Given the description of an element on the screen output the (x, y) to click on. 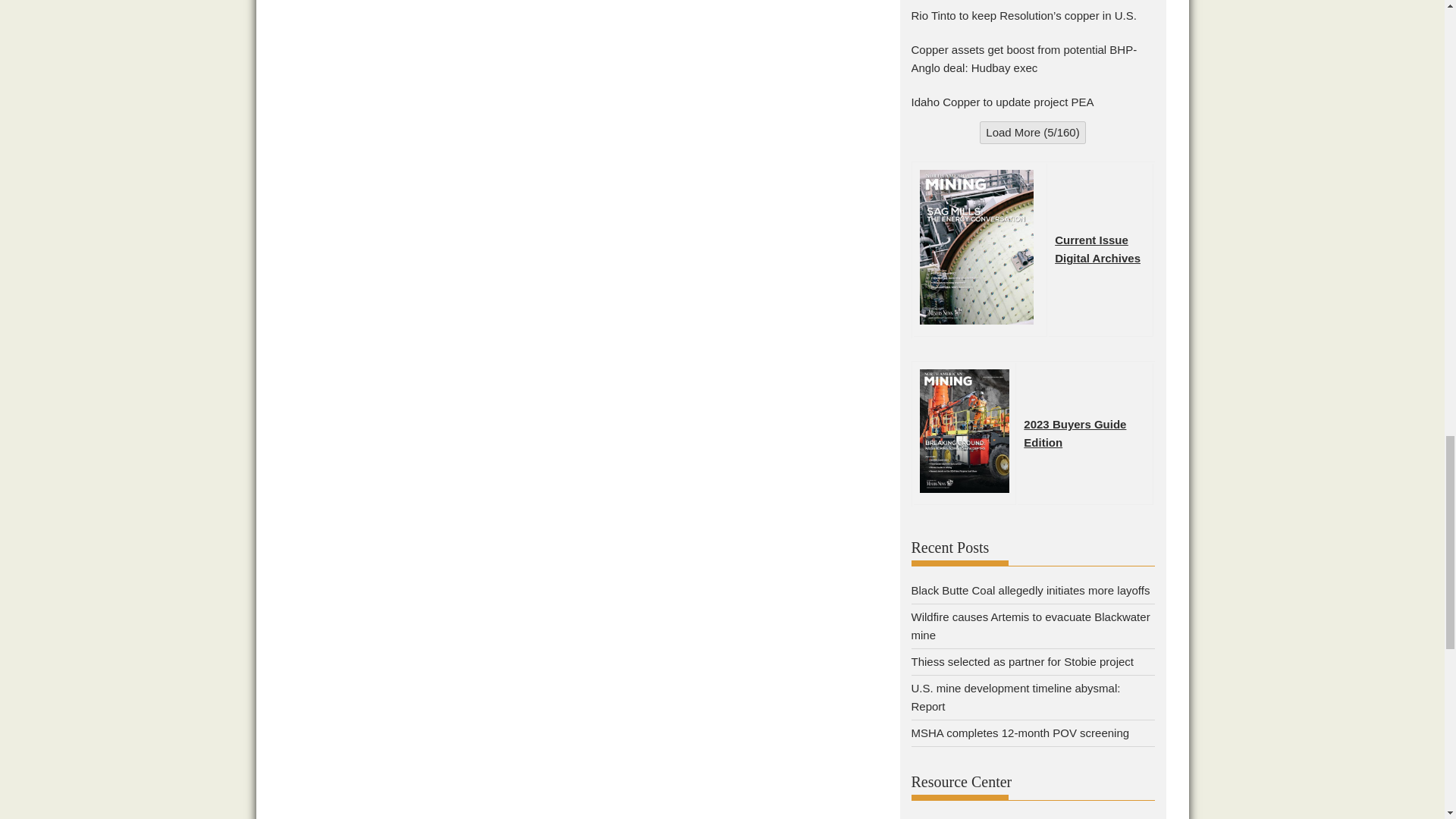
North American Mining Products Current Issue (1091, 239)
Resource Center (1032, 815)
North American Mining Products Current Issue (1097, 257)
North American Mining Products Current Issue (1074, 432)
